Given the description of an element on the screen output the (x, y) to click on. 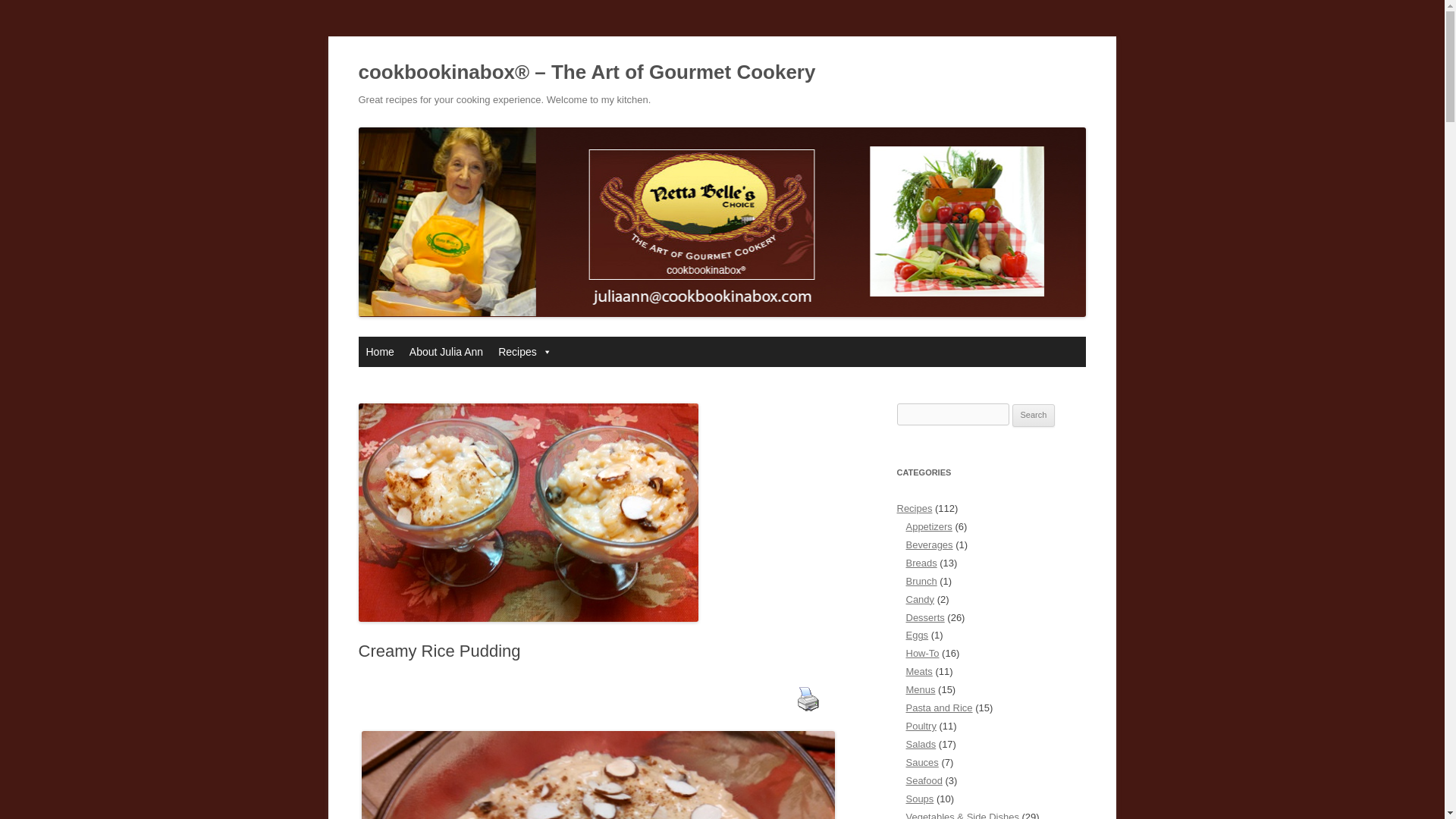
Recipes (524, 351)
Print Content (808, 698)
About Julia Ann (445, 351)
Search (1033, 415)
Home (379, 351)
